Given the description of an element on the screen output the (x, y) to click on. 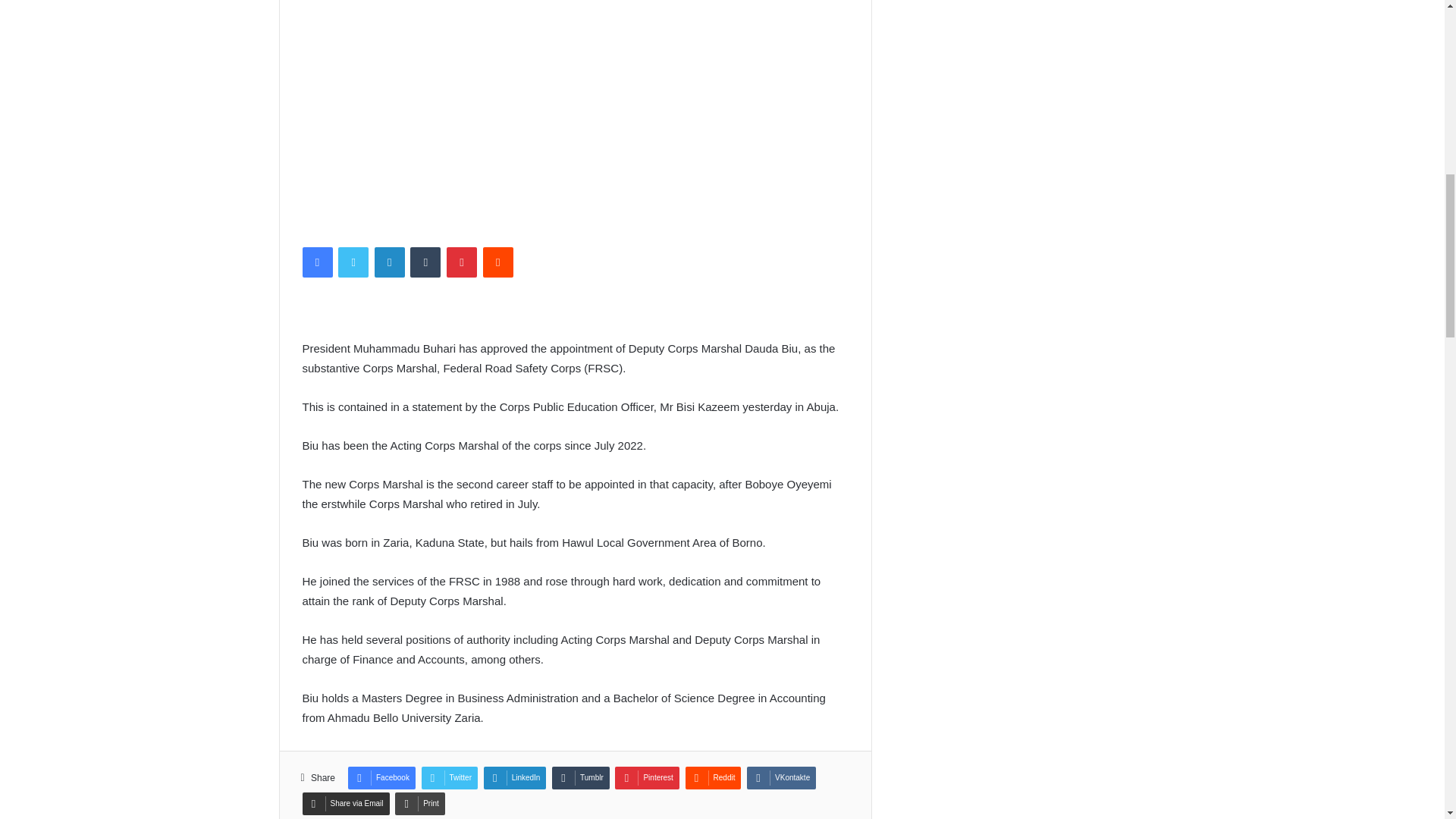
Reddit (498, 262)
Pinterest (461, 262)
LinkedIn (389, 262)
Facebook (316, 262)
Twitter (352, 262)
Tumblr (425, 262)
